Given the description of an element on the screen output the (x, y) to click on. 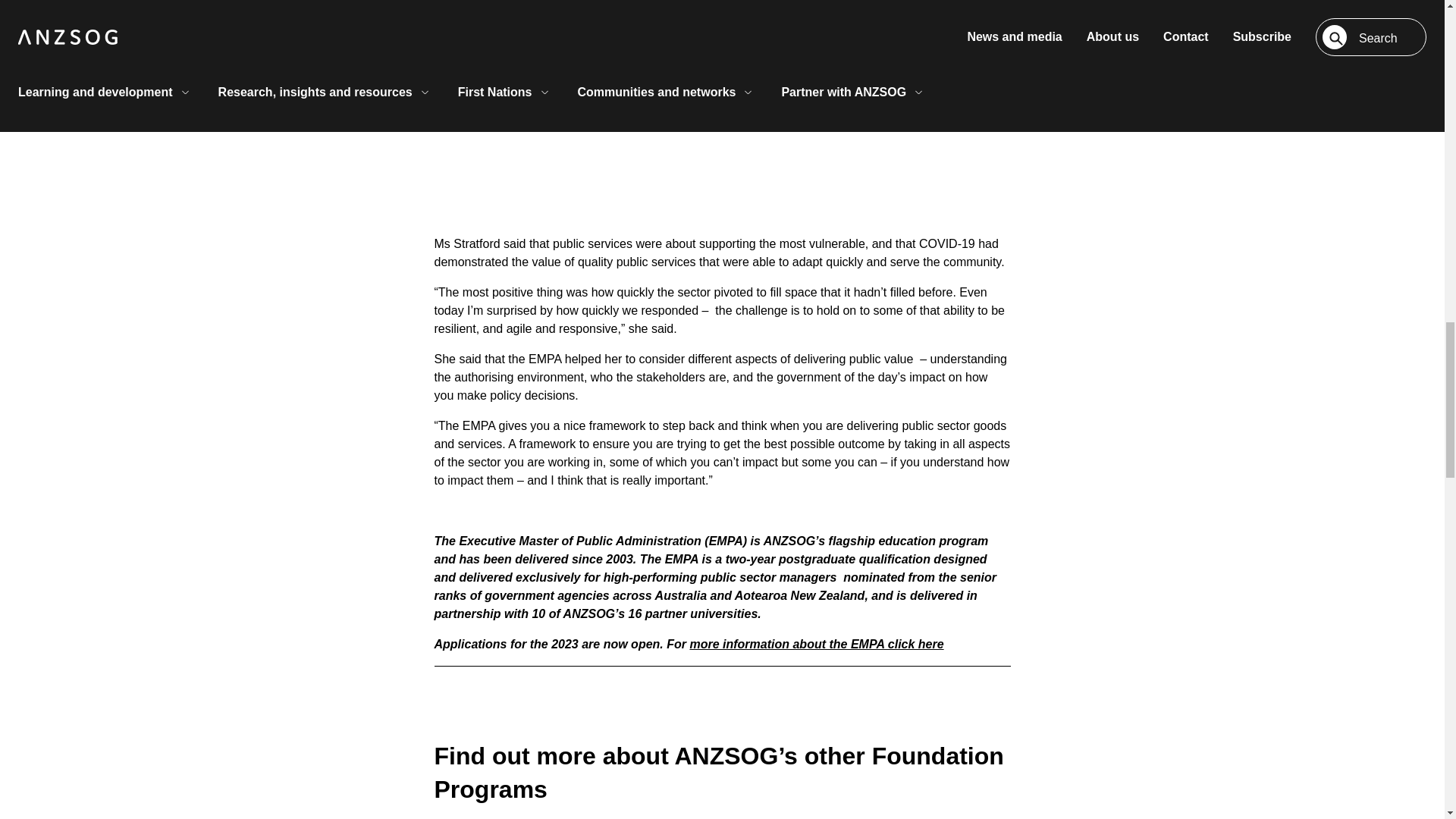
Libby Stratford - EMPA Alum (721, 81)
